Given the description of an element on the screen output the (x, y) to click on. 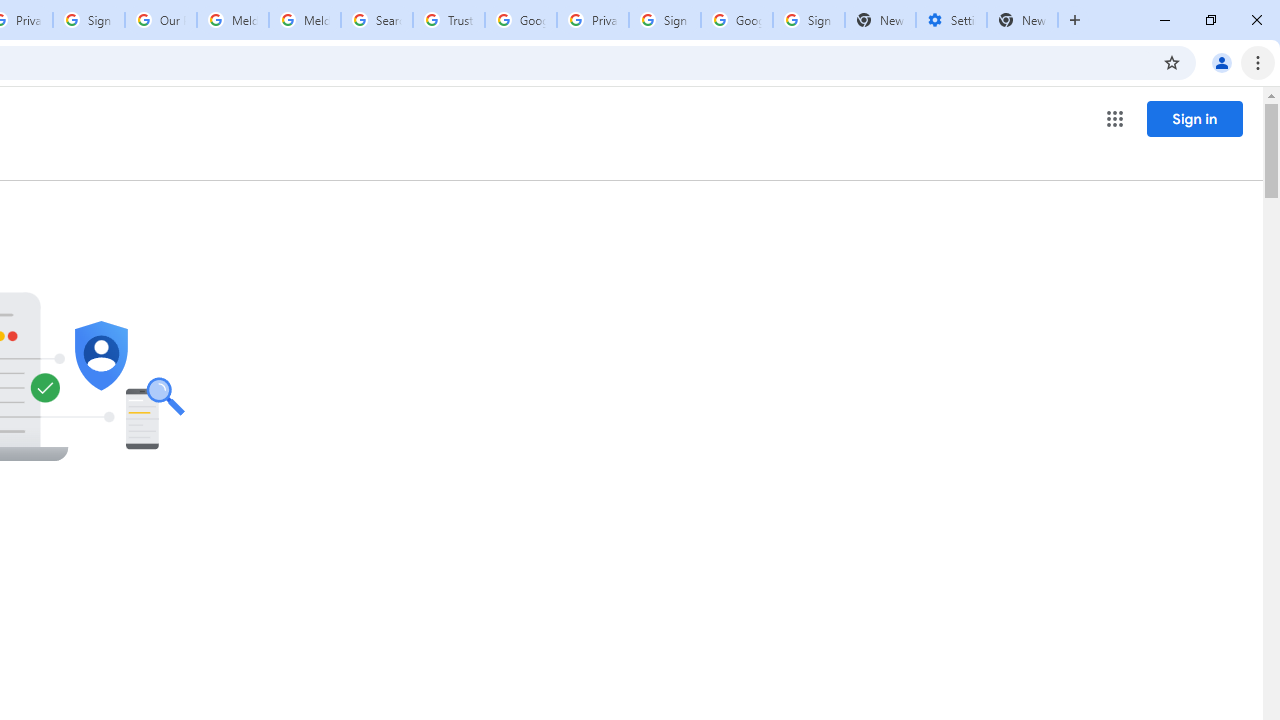
Sign in - Google Accounts (88, 20)
New Tab (1022, 20)
Search our Doodle Library Collection - Google Doodles (376, 20)
